Given the description of an element on the screen output the (x, y) to click on. 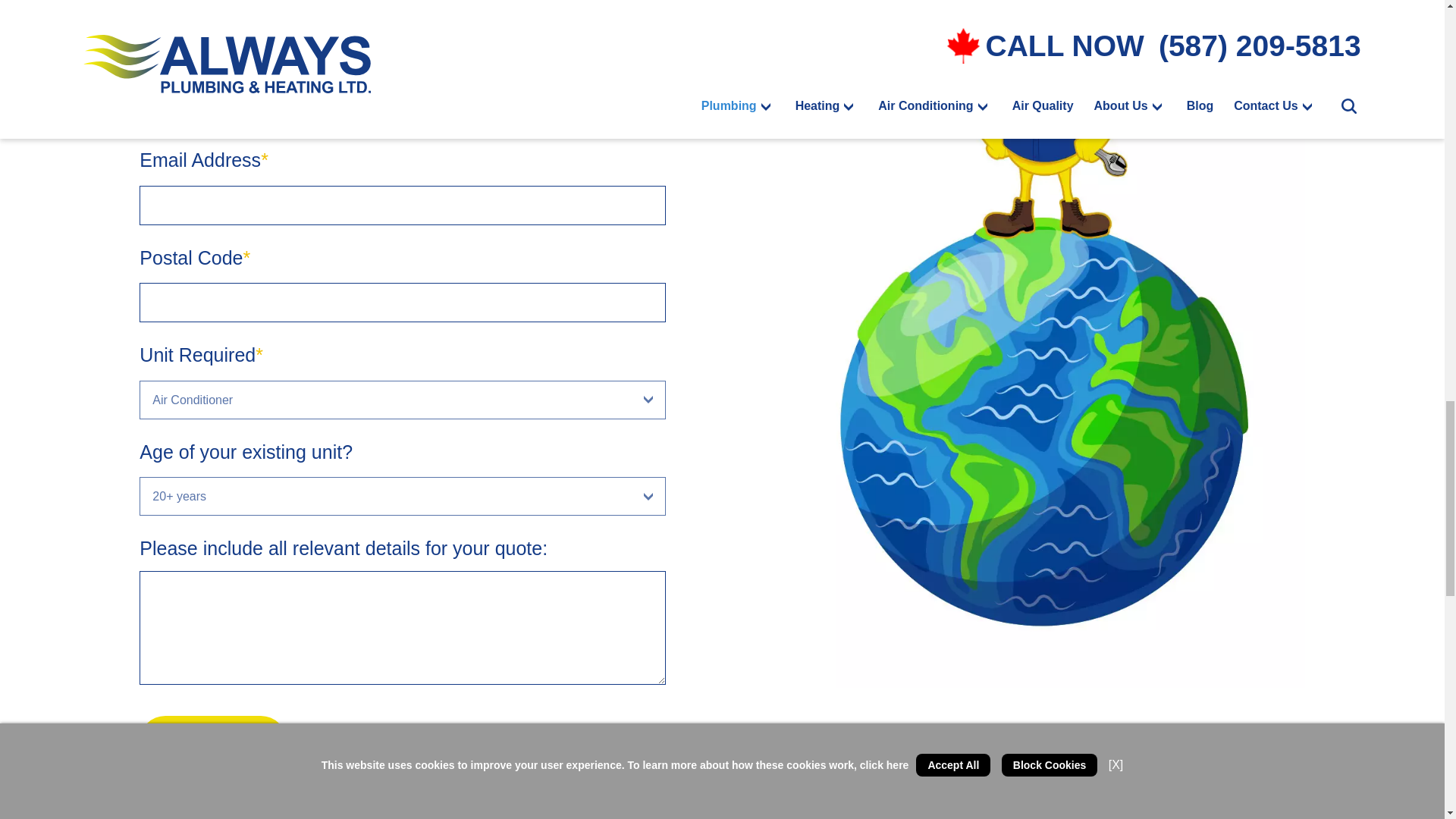
Submit (212, 743)
